Given the description of an element on the screen output the (x, y) to click on. 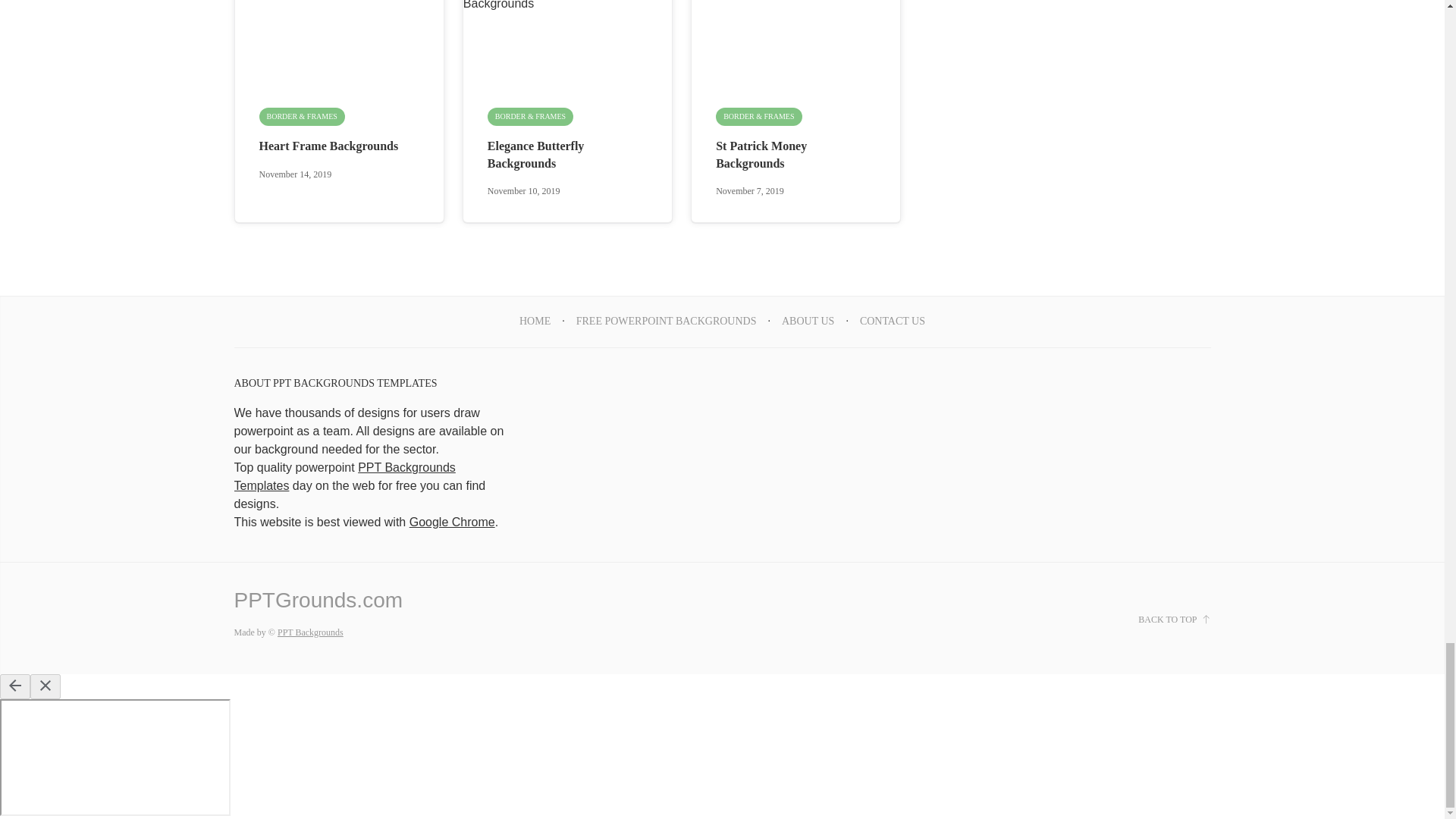
BACK TO TOP (1173, 619)
